Given the description of an element on the screen output the (x, y) to click on. 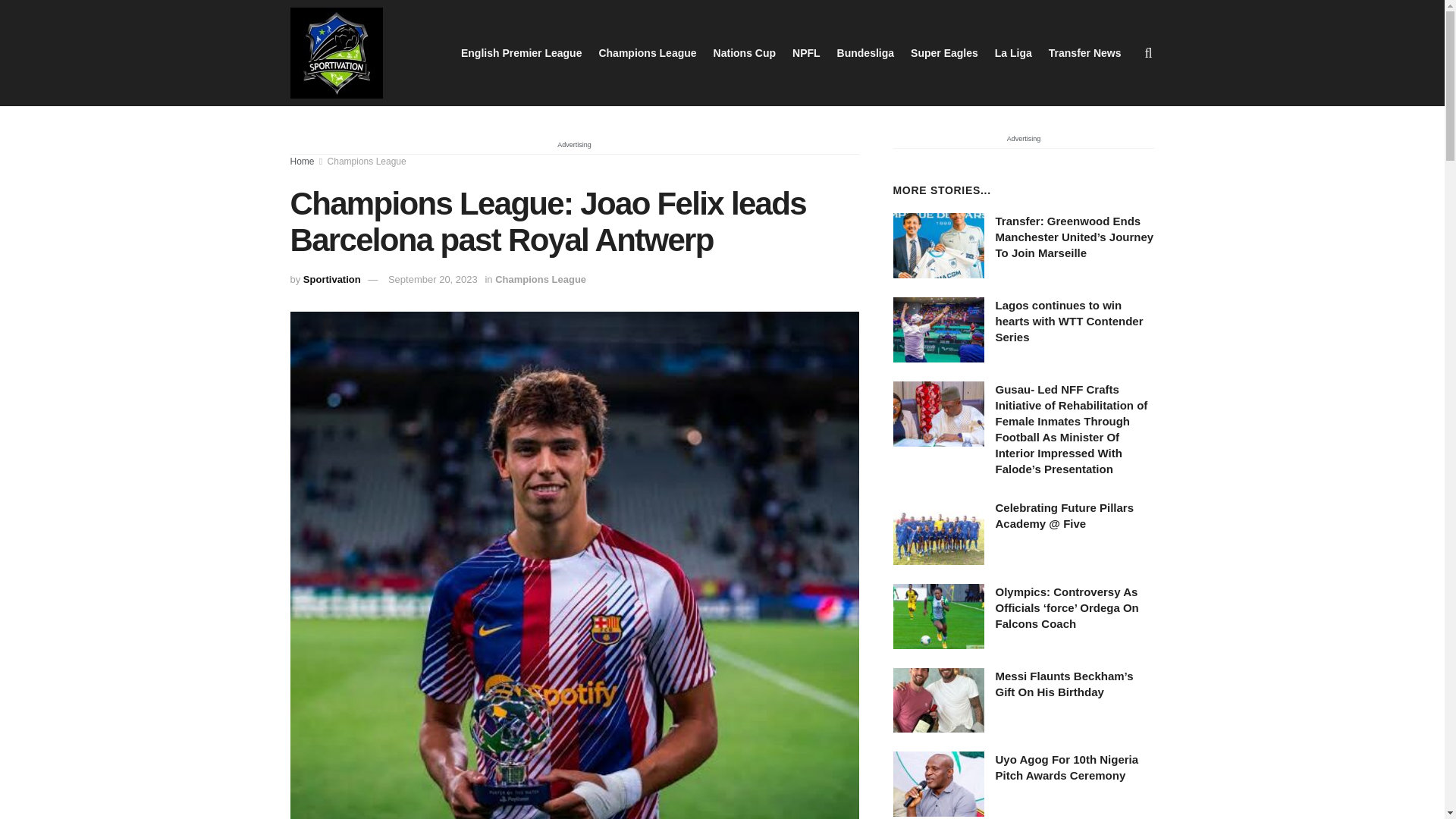
La Liga (1013, 52)
Home (301, 161)
NPFL (806, 52)
September 20, 2023 (432, 279)
Sportivation (331, 279)
Champions League (646, 52)
English Premier League (521, 52)
Transfer News (1084, 52)
Nations Cup (744, 52)
Bundesliga (865, 52)
Champions League (366, 161)
Champions League (540, 279)
Super Eagles (944, 52)
